Given the description of an element on the screen output the (x, y) to click on. 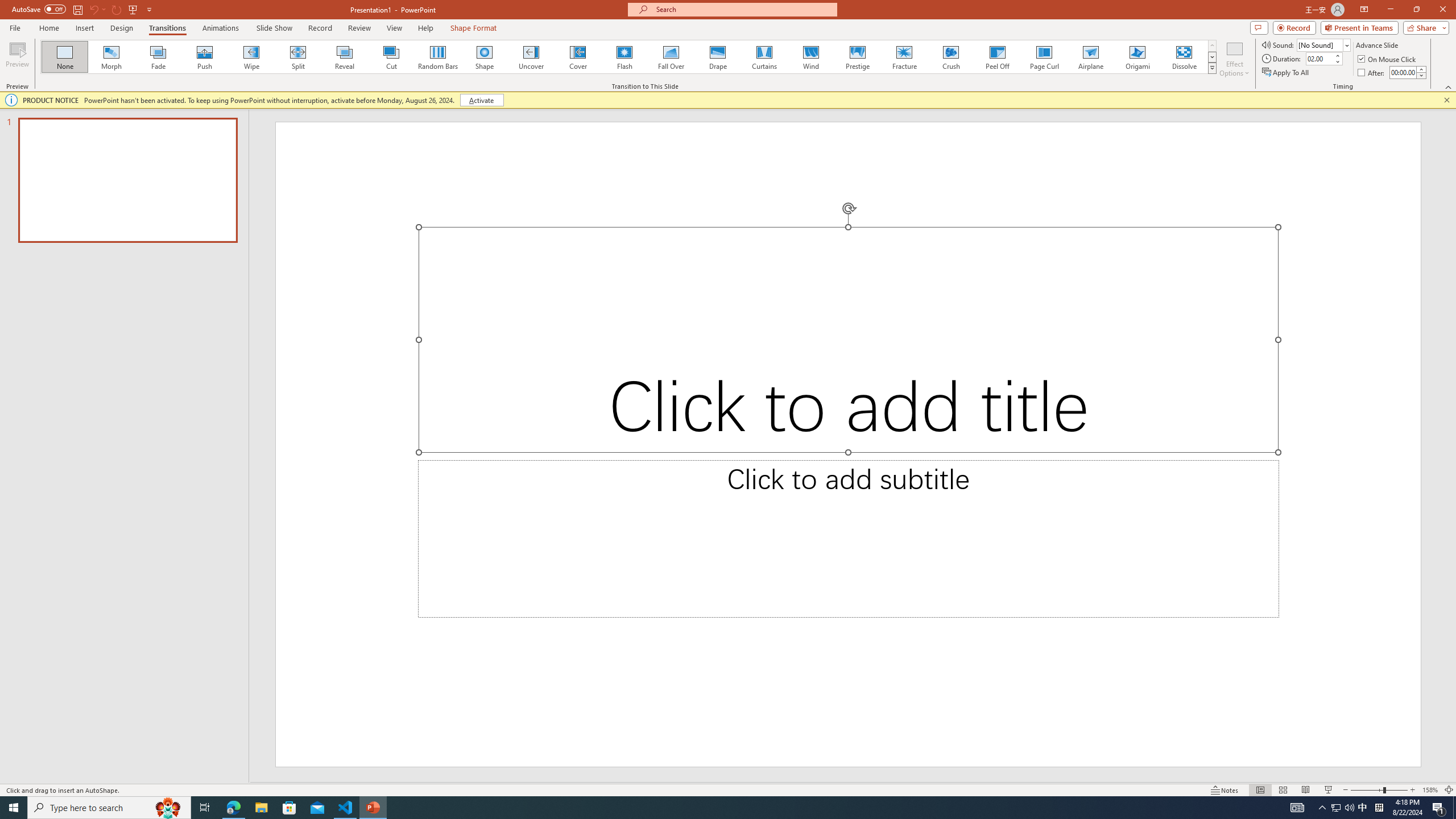
Zoom 158% (1430, 790)
Dissolve (1183, 56)
Crush (950, 56)
Push (205, 56)
Morph (111, 56)
Drape (717, 56)
Prestige (857, 56)
Reveal (344, 56)
Wipe (251, 56)
Shape Format (473, 28)
